Given the description of an element on the screen output the (x, y) to click on. 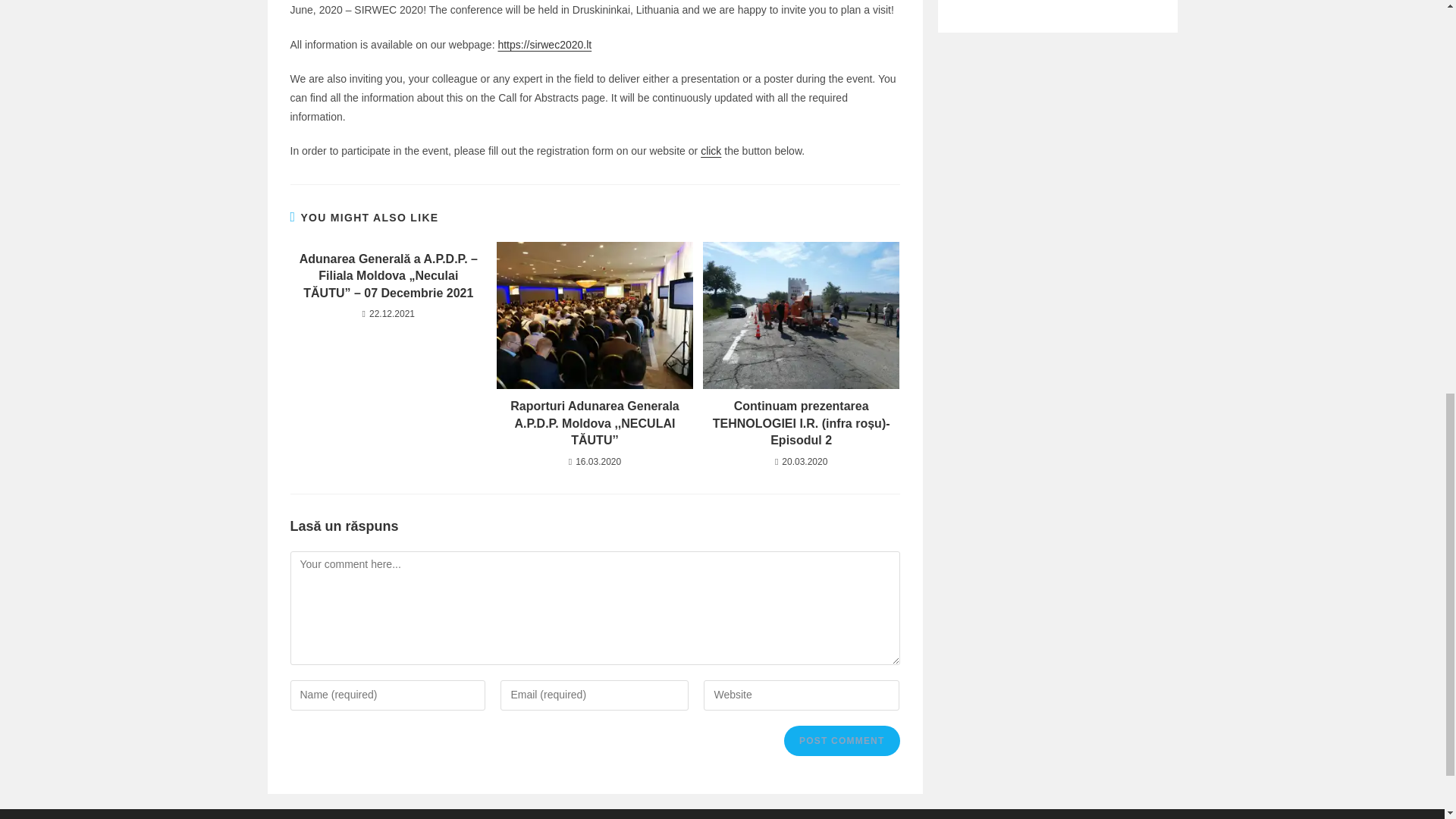
Post Comment (841, 740)
